Given the description of an element on the screen output the (x, y) to click on. 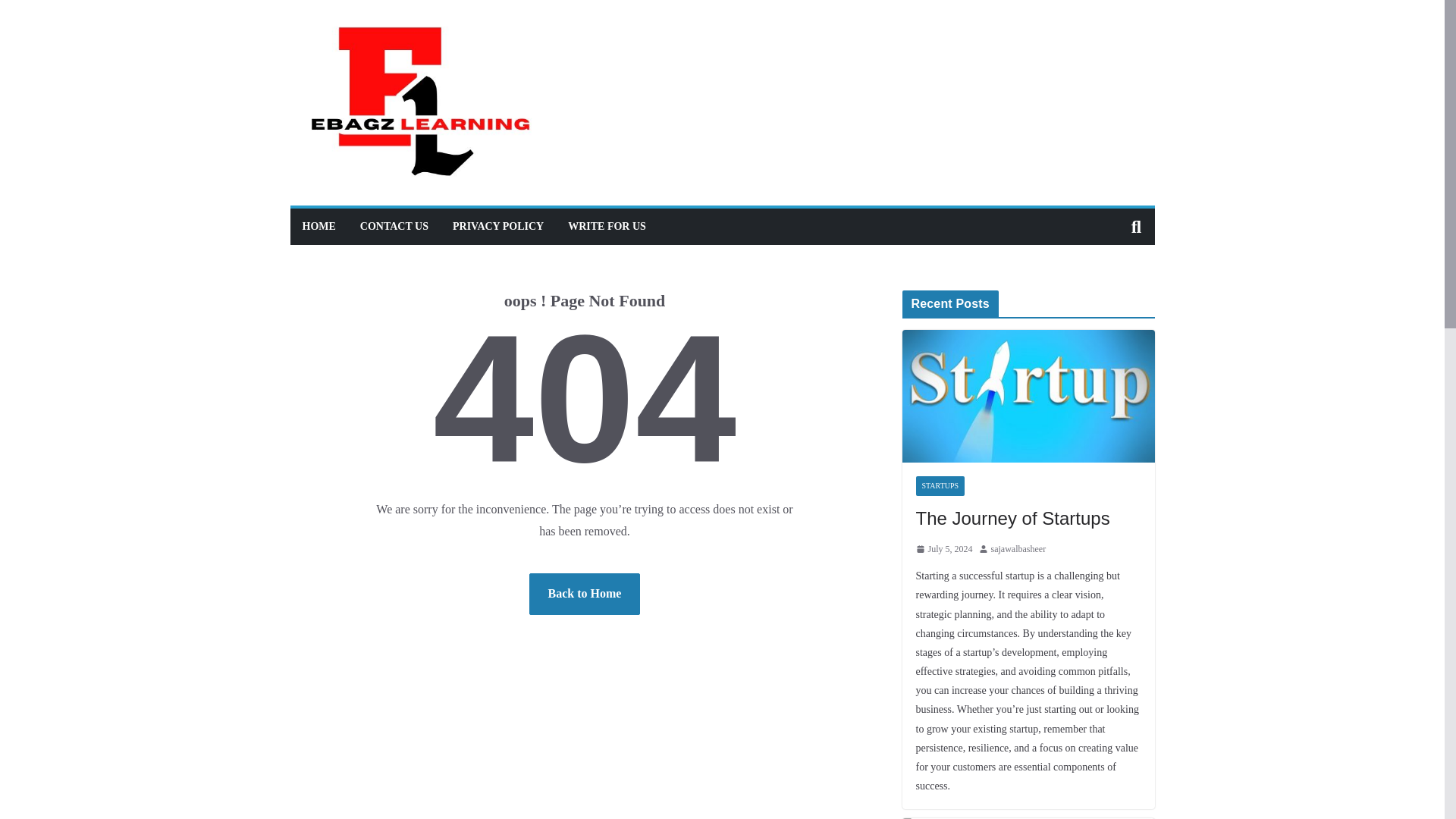
STARTUPS (940, 485)
PRIVACY POLICY (497, 226)
CONTACT US (393, 226)
The Journey of Startups (1028, 518)
WRITE FOR US (606, 226)
HOME (317, 226)
The Journey of Startups (1028, 518)
sajawalbasheer (1018, 549)
sajawalbasheer (1018, 549)
12:38 pm (943, 549)
The Journey of Startups (1028, 396)
July 5, 2024 (943, 549)
Back to Home (584, 594)
